Given the description of an element on the screen output the (x, y) to click on. 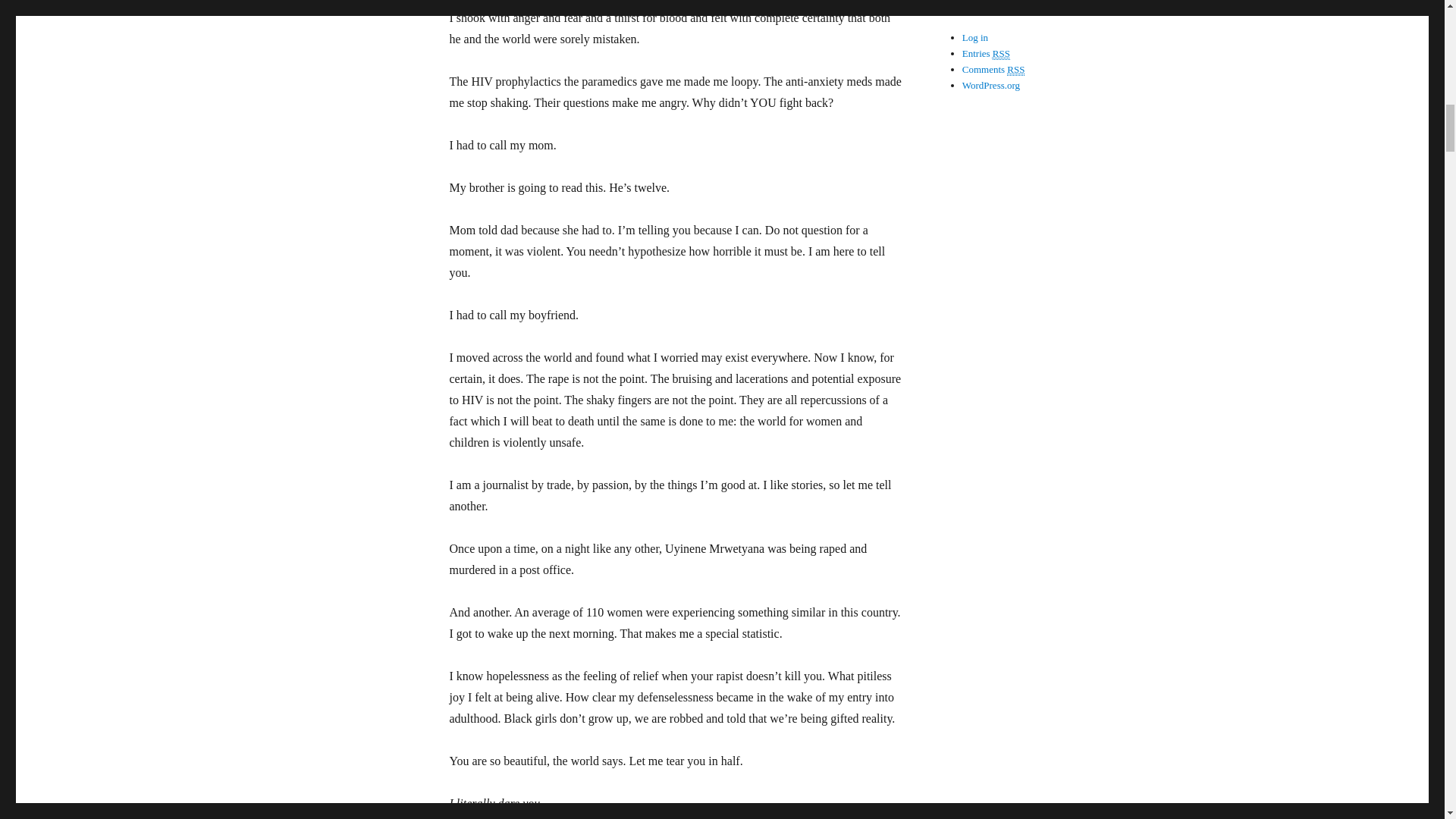
Really Simple Syndication (1001, 53)
Really Simple Syndication (1016, 69)
